Given the description of an element on the screen output the (x, y) to click on. 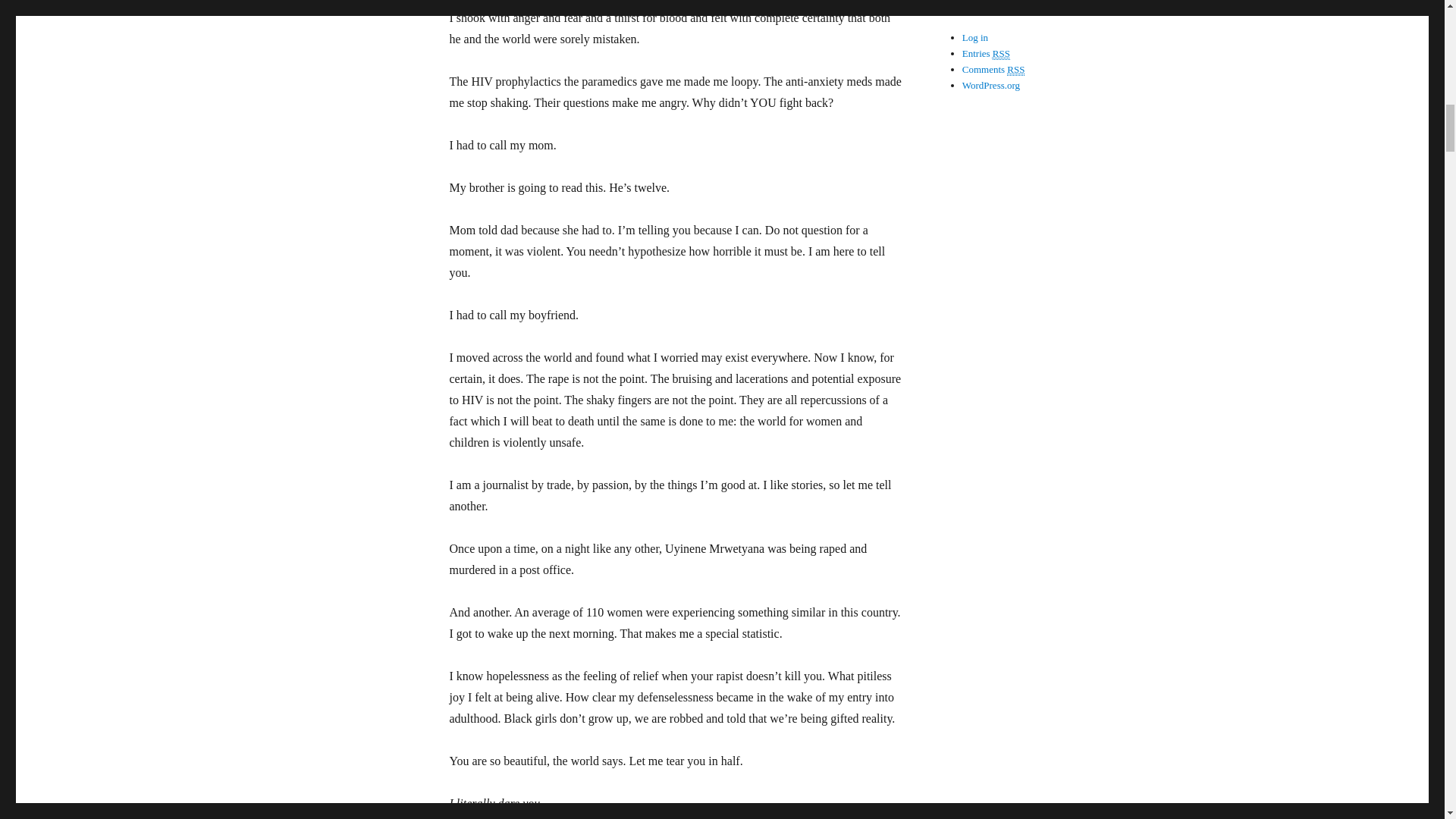
Really Simple Syndication (1001, 53)
Really Simple Syndication (1016, 69)
